Given the description of an element on the screen output the (x, y) to click on. 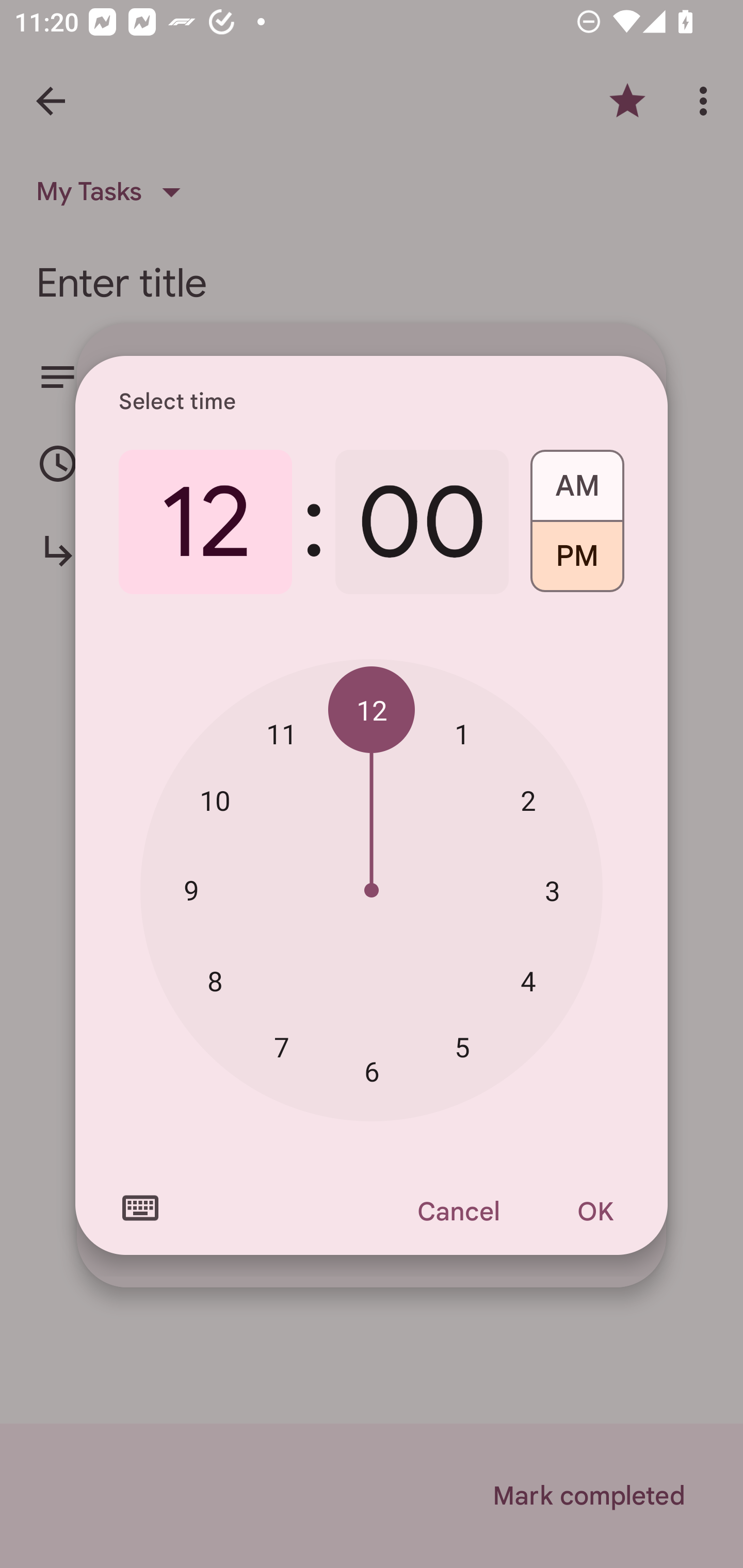
AM (577, 478)
12 12 o'clock (204, 522)
00 0 minutes (421, 522)
PM (577, 563)
12 12 o'clock (371, 710)
11 11 o'clock (281, 733)
1 1 o'clock (462, 733)
10 10 o'clock (214, 800)
2 2 o'clock (528, 800)
9 9 o'clock (190, 889)
3 3 o'clock (551, 890)
8 8 o'clock (214, 980)
4 4 o'clock (528, 980)
7 7 o'clock (281, 1046)
5 5 o'clock (462, 1046)
6 6 o'clock (371, 1071)
Switch to text input mode for the time input. (140, 1208)
Cancel (458, 1211)
OK (595, 1211)
